Given the description of an element on the screen output the (x, y) to click on. 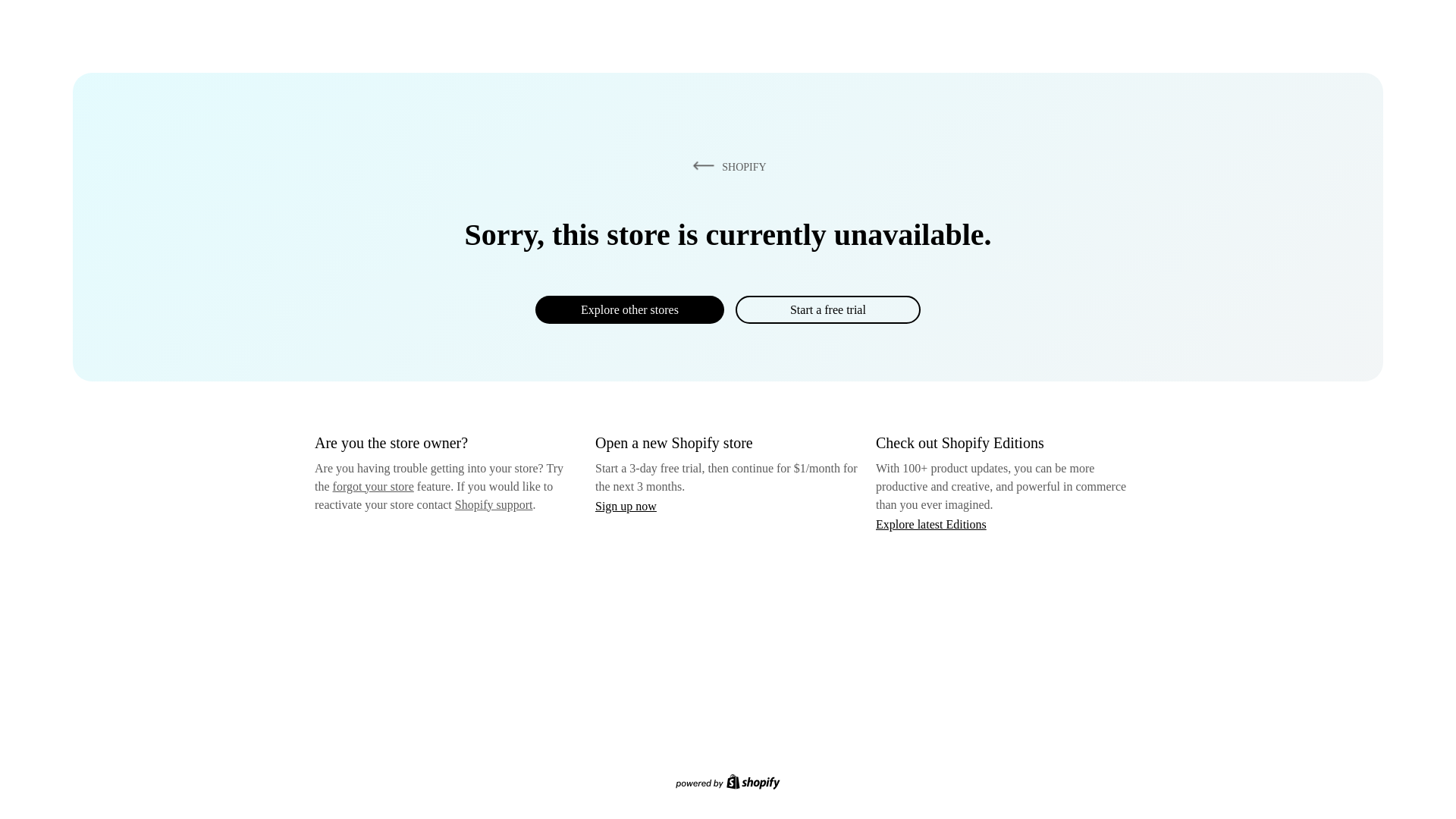
Sign up now (625, 505)
Start a free trial (827, 309)
SHOPIFY (726, 166)
Explore other stores (629, 309)
Shopify support (493, 504)
Explore latest Editions (931, 523)
forgot your store (373, 486)
